Given the description of an element on the screen output the (x, y) to click on. 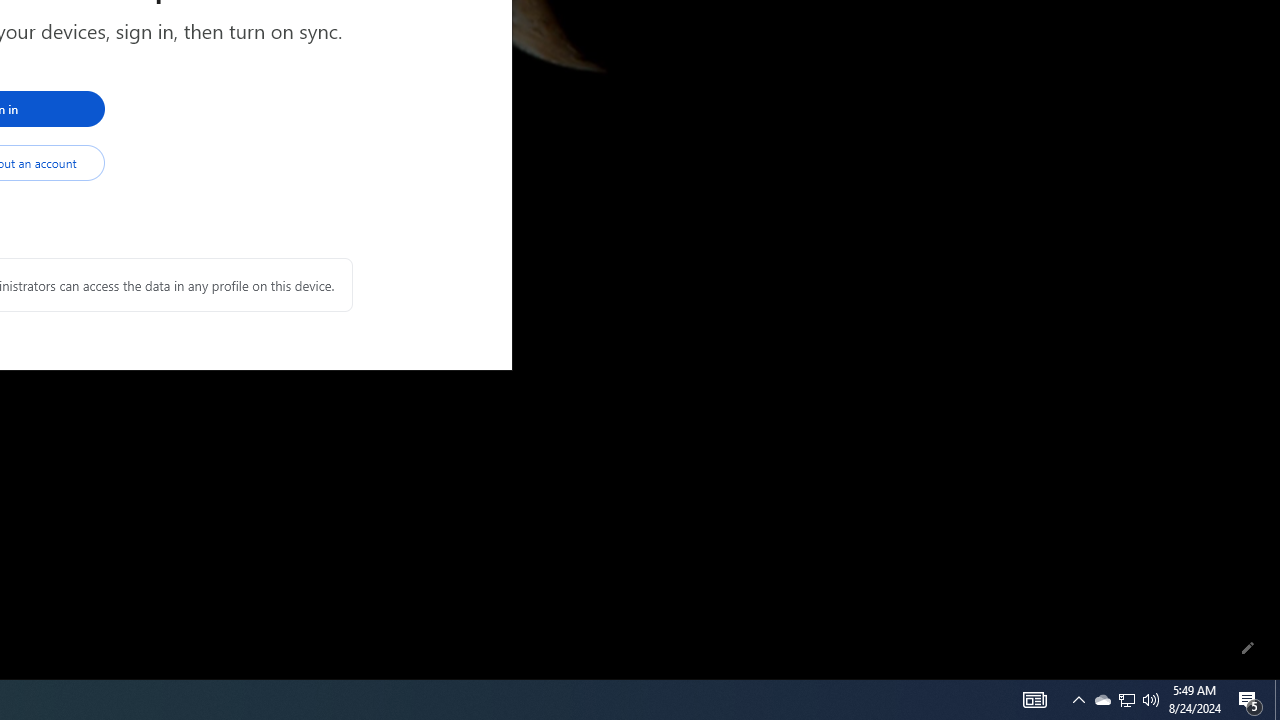
Action Center, 5 new notifications (1250, 699)
Notification Chevron (1078, 699)
Show desktop (1102, 699)
AutomationID: 4105 (1277, 699)
User Promoted Notification Area (1034, 699)
Q2790: 100% (1126, 699)
